Given the description of an element on the screen output the (x, y) to click on. 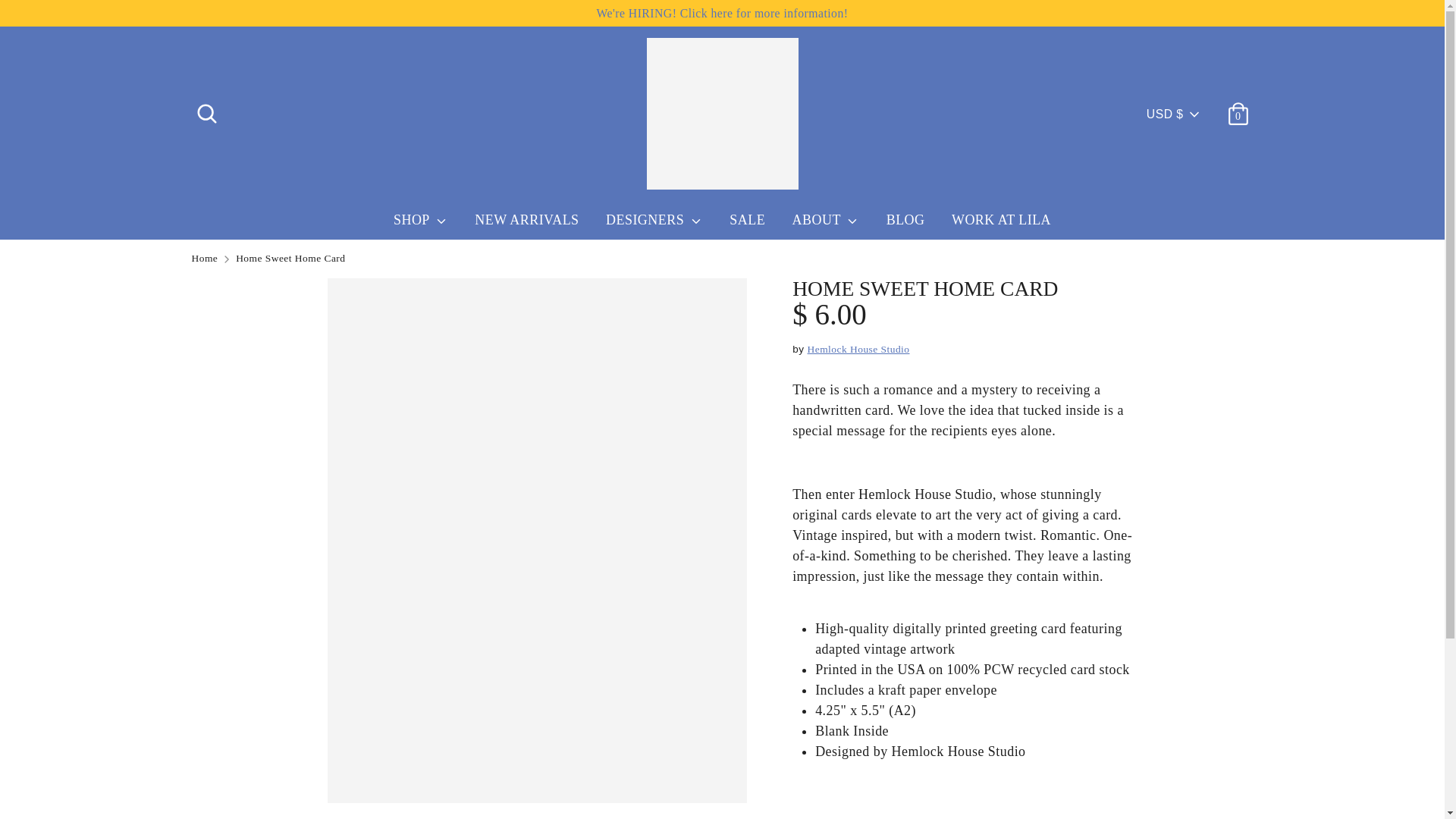
Meta Pay (1063, 769)
Discover (1030, 769)
Venmo (1202, 769)
Diners Club (995, 769)
Mastercard (1098, 769)
American Express (961, 769)
Shop Pay (1168, 769)
0 (1237, 108)
Visa (1236, 769)
Search (205, 108)
PayPal (1133, 769)
